Given the description of an element on the screen output the (x, y) to click on. 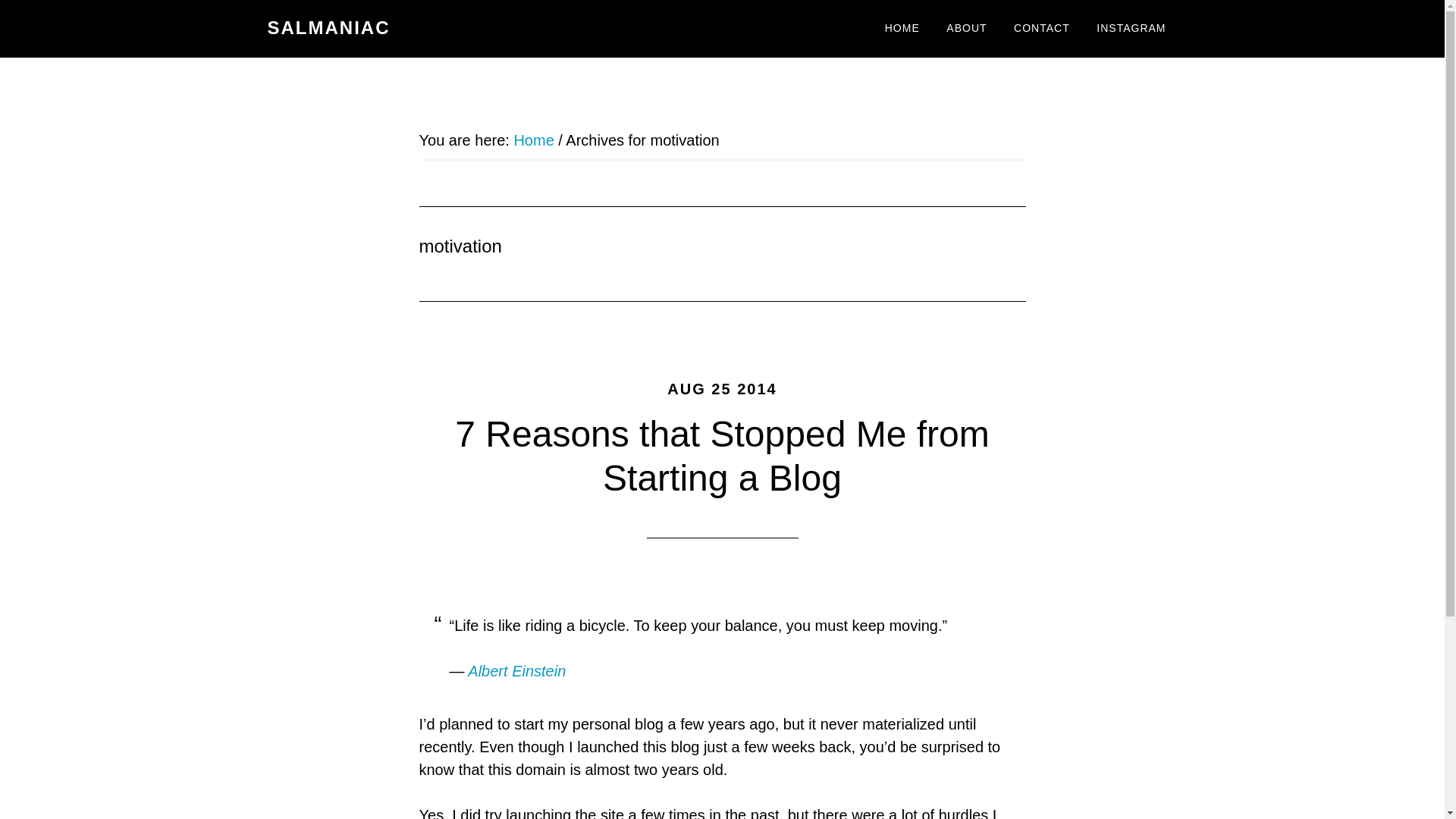
SALMANIAC (328, 27)
ABOUT (965, 28)
INSTAGRAM (1130, 28)
7 Reasons that Stopped Me from Starting a Blog (721, 455)
Home (533, 139)
HOME (902, 28)
CONTACT (1042, 28)
Albert Einstein Quote Citation (516, 670)
Albert Einstein (516, 670)
